Given the description of an element on the screen output the (x, y) to click on. 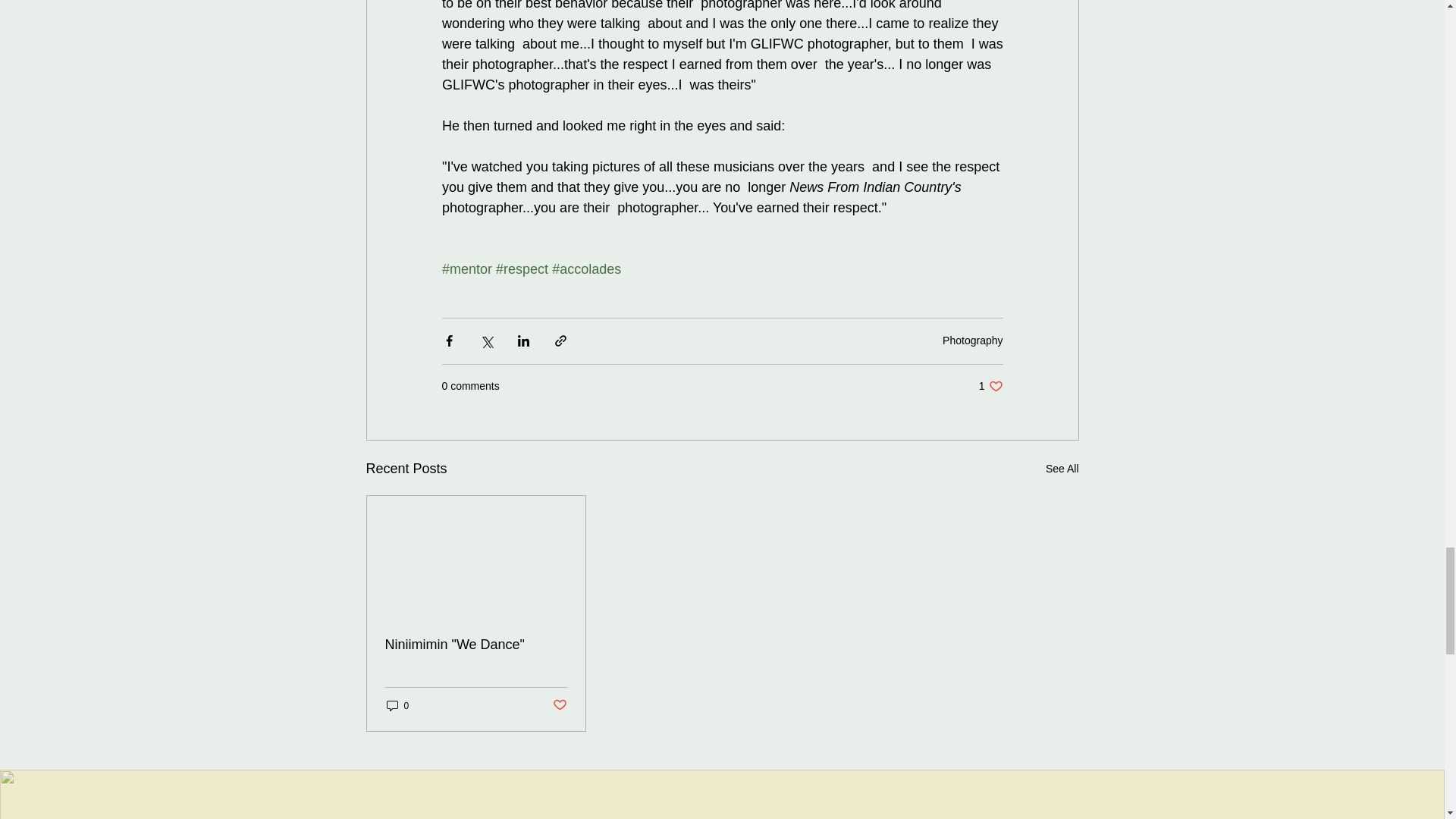
Niniimimin "We Dance" (476, 644)
Post not marked as liked (558, 705)
0 (397, 705)
Photography (972, 340)
See All (1061, 468)
